Given the description of an element on the screen output the (x, y) to click on. 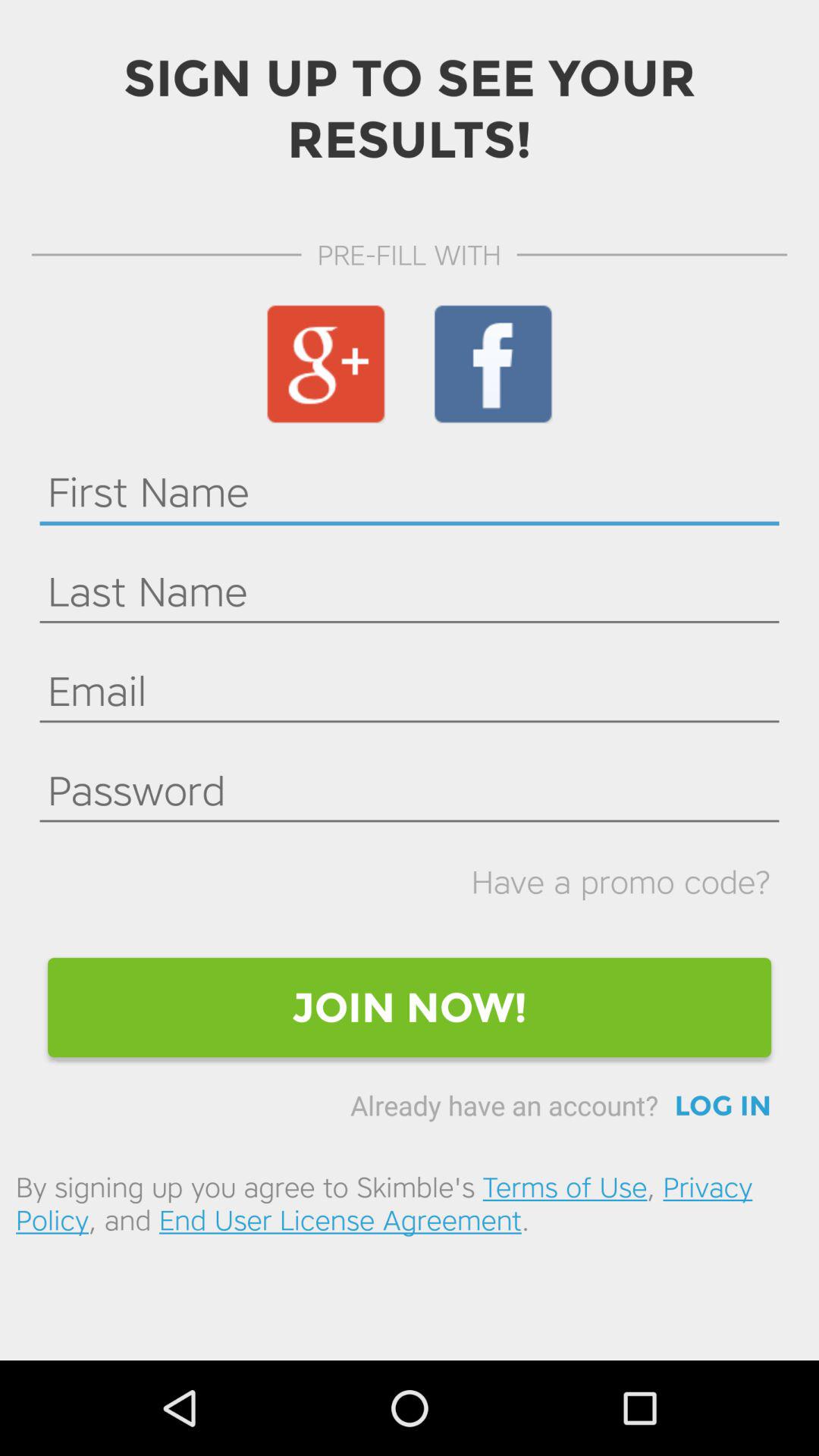
open the join now! (409, 1007)
